Given the description of an element on the screen output the (x, y) to click on. 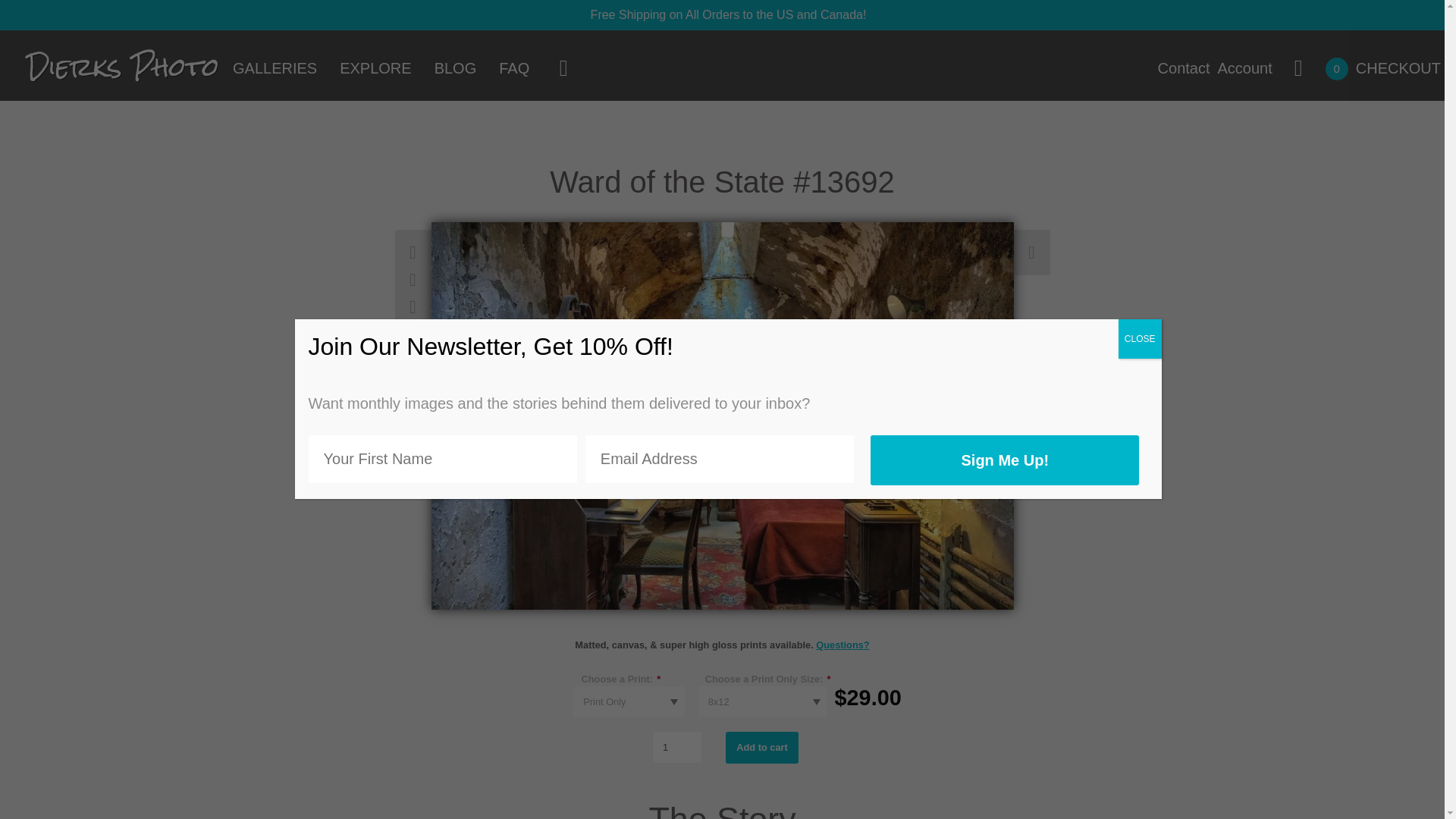
Questions? (842, 644)
Email This (412, 334)
Add to cart (761, 747)
Account (1244, 70)
FAQ (514, 70)
GALLERIES (274, 70)
EXPLORE (374, 70)
BLOG (455, 70)
Share on Facebook (412, 279)
CHECKOUT (1398, 70)
